Given the description of an element on the screen output the (x, y) to click on. 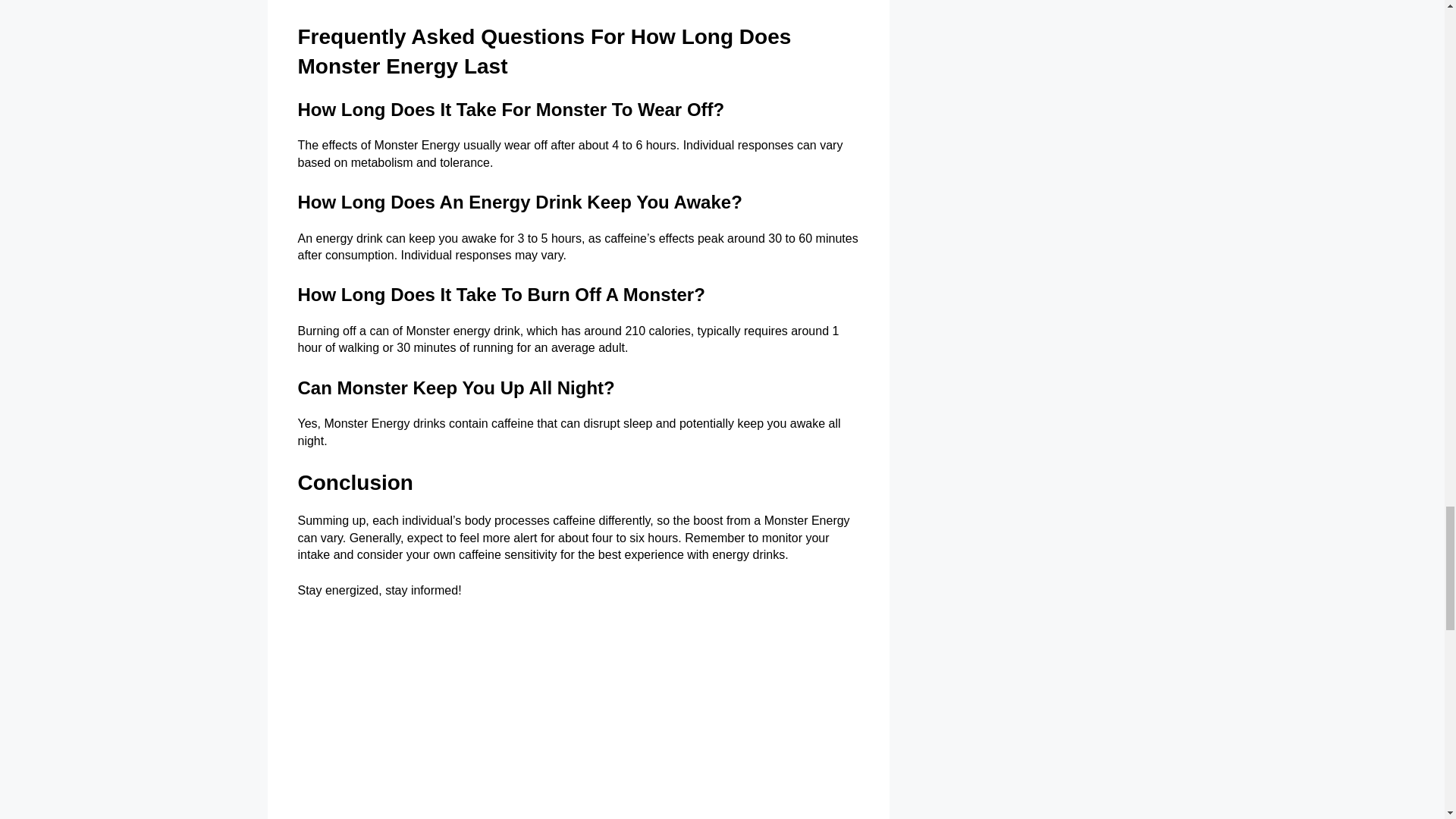
What's inside Monster Energy Drink? (578, 718)
